Given the description of an element on the screen output the (x, y) to click on. 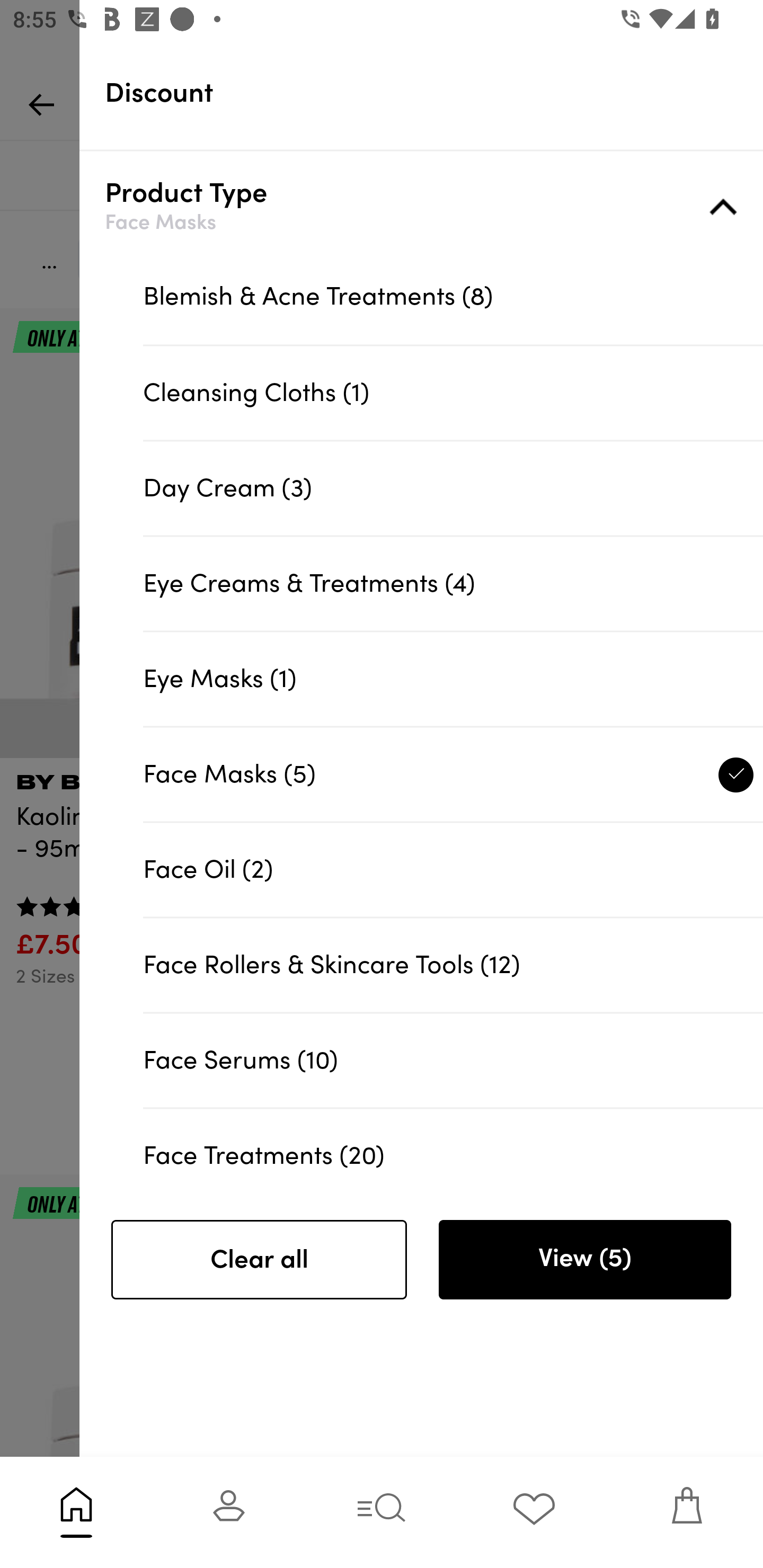
Discount (434, 92)
Blemish & Acne Treatments (8) (453, 296)
Cleansing Cloths (1) (453, 392)
Day Cream (3) (453, 488)
Eye Creams & Treatments (4) (453, 583)
Eye Masks (1) (453, 677)
Face Masks (5)  (453, 773)
Face Oil (2) (453, 869)
Face Rollers & Skincare Tools (12) (453, 964)
Face Serums (10) (453, 1059)
Face Treatments (20) (453, 1147)
Clear all (258, 1259)
View (5) (584, 1259)
